Given the description of an element on the screen output the (x, y) to click on. 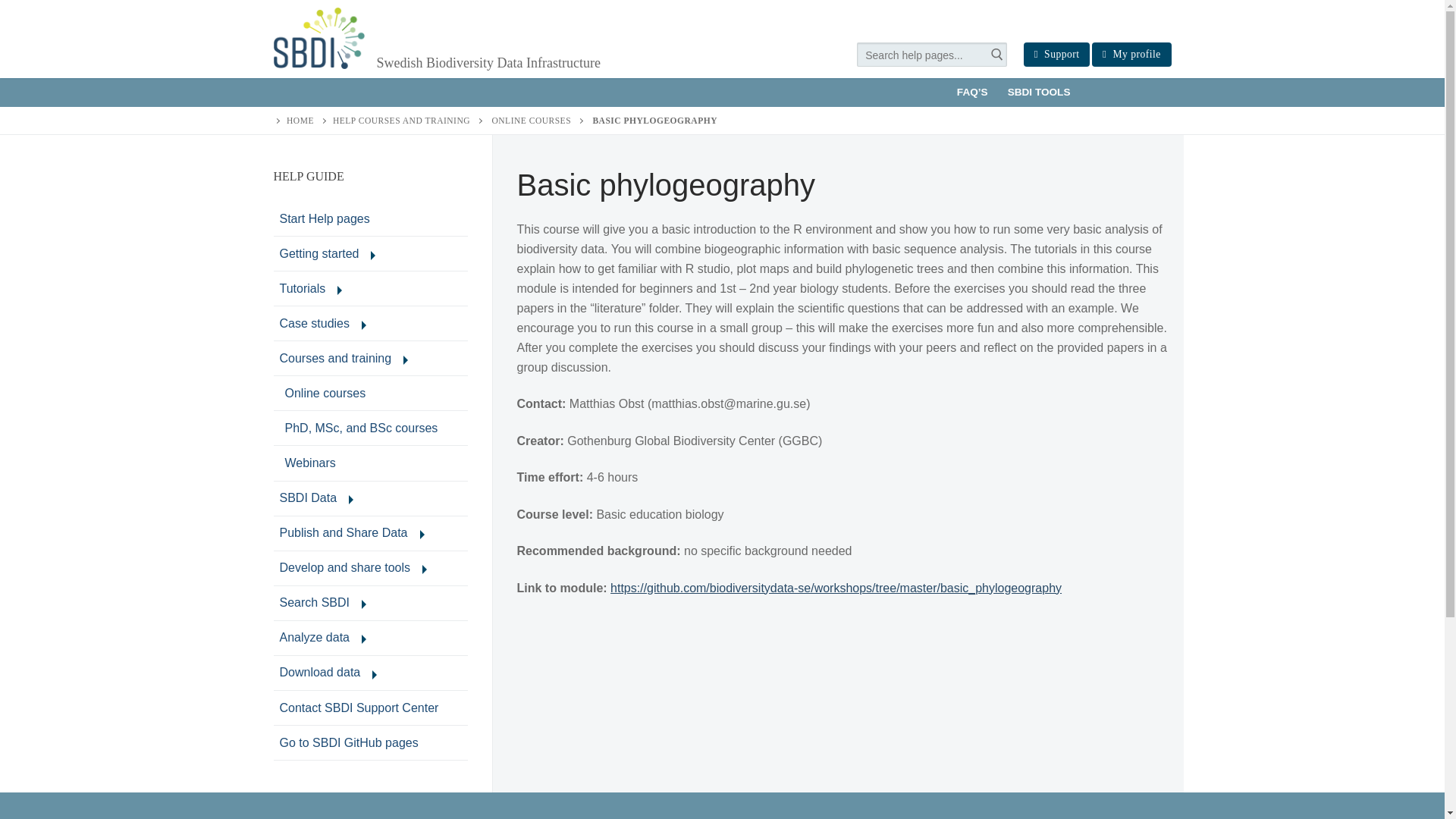
Webinars (370, 253)
Support (370, 323)
Online courses (370, 462)
HELP (370, 498)
COURSES AND TRAINING (370, 288)
My profile (1056, 54)
PhD, MSc, and BSc courses (370, 393)
Search for: (370, 358)
SBDI TOOLS (344, 120)
